Given the description of an element on the screen output the (x, y) to click on. 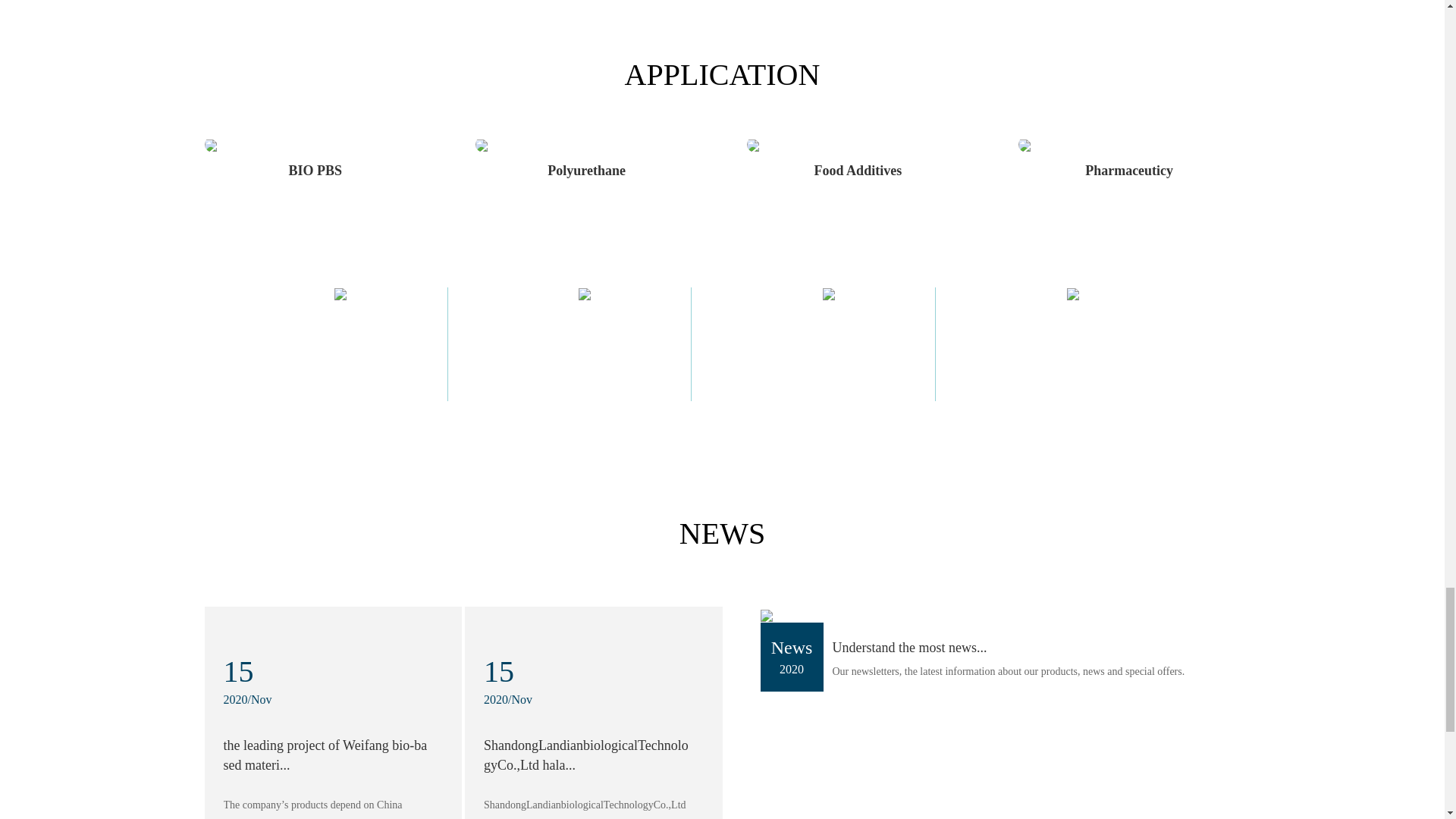
ShandongLandianbiologicalTechnologyCo.,Ltd hala... (585, 755)
the leading project of Weifang bio-based materi... (324, 755)
Polyurethane (586, 170)
Food Additives (857, 170)
Understand the most news... (909, 647)
Pharmaceuticy (1128, 170)
BIO PBS (315, 170)
